Given the description of an element on the screen output the (x, y) to click on. 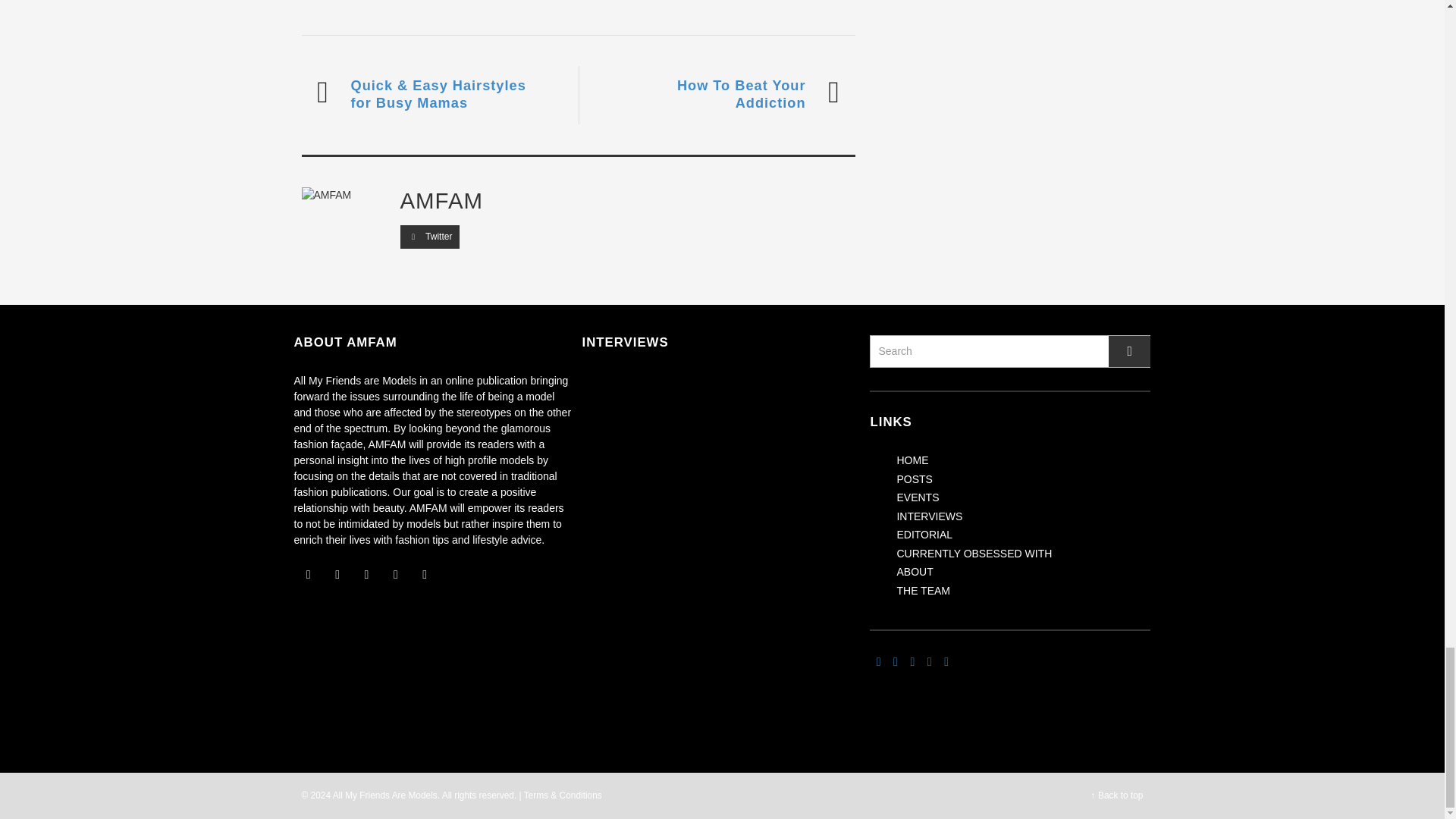
Search (1009, 350)
